Given the description of an element on the screen output the (x, y) to click on. 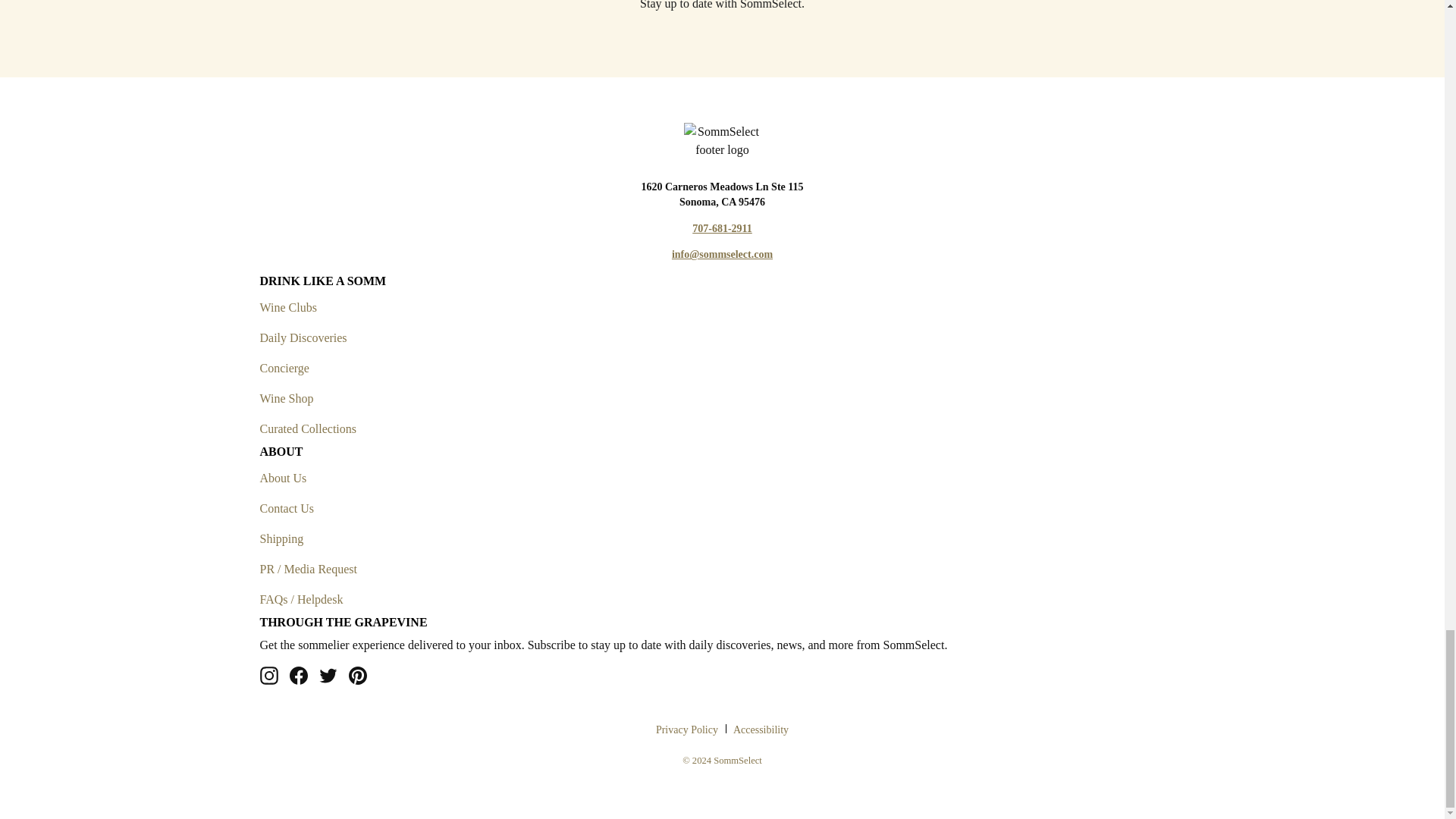
SommSelect on Instagram (268, 674)
SommSelect on Facebook (298, 674)
SommSelect on Pinterest (357, 674)
SommSelect on Twitter (327, 674)
